Given the description of an element on the screen output the (x, y) to click on. 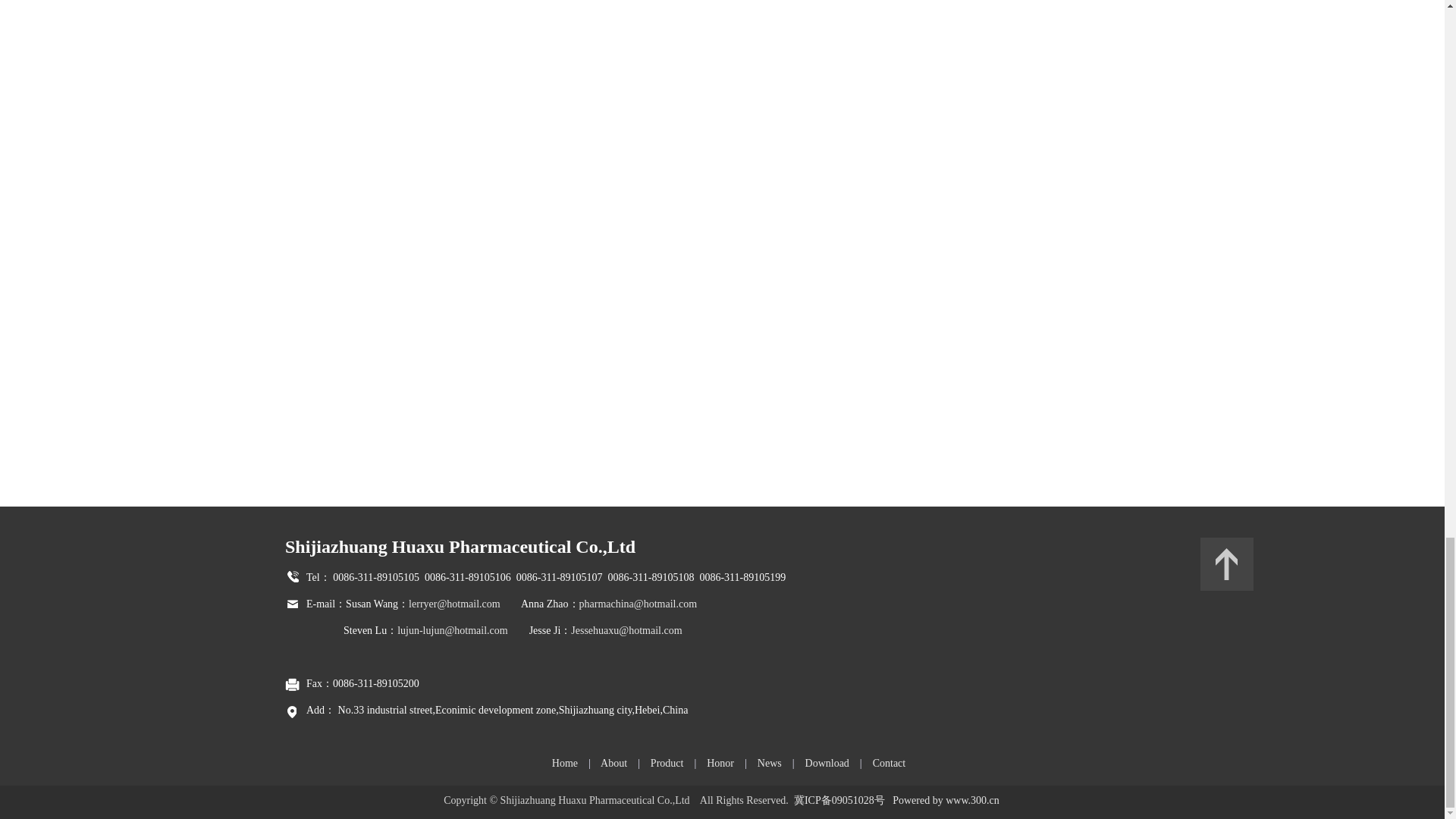
Powered by www.300.cn (945, 799)
About (613, 763)
Download (826, 763)
TOP (1226, 563)
Honor (719, 763)
News (769, 763)
Home (564, 763)
Contact (888, 763)
Product (667, 763)
